Given the description of an element on the screen output the (x, y) to click on. 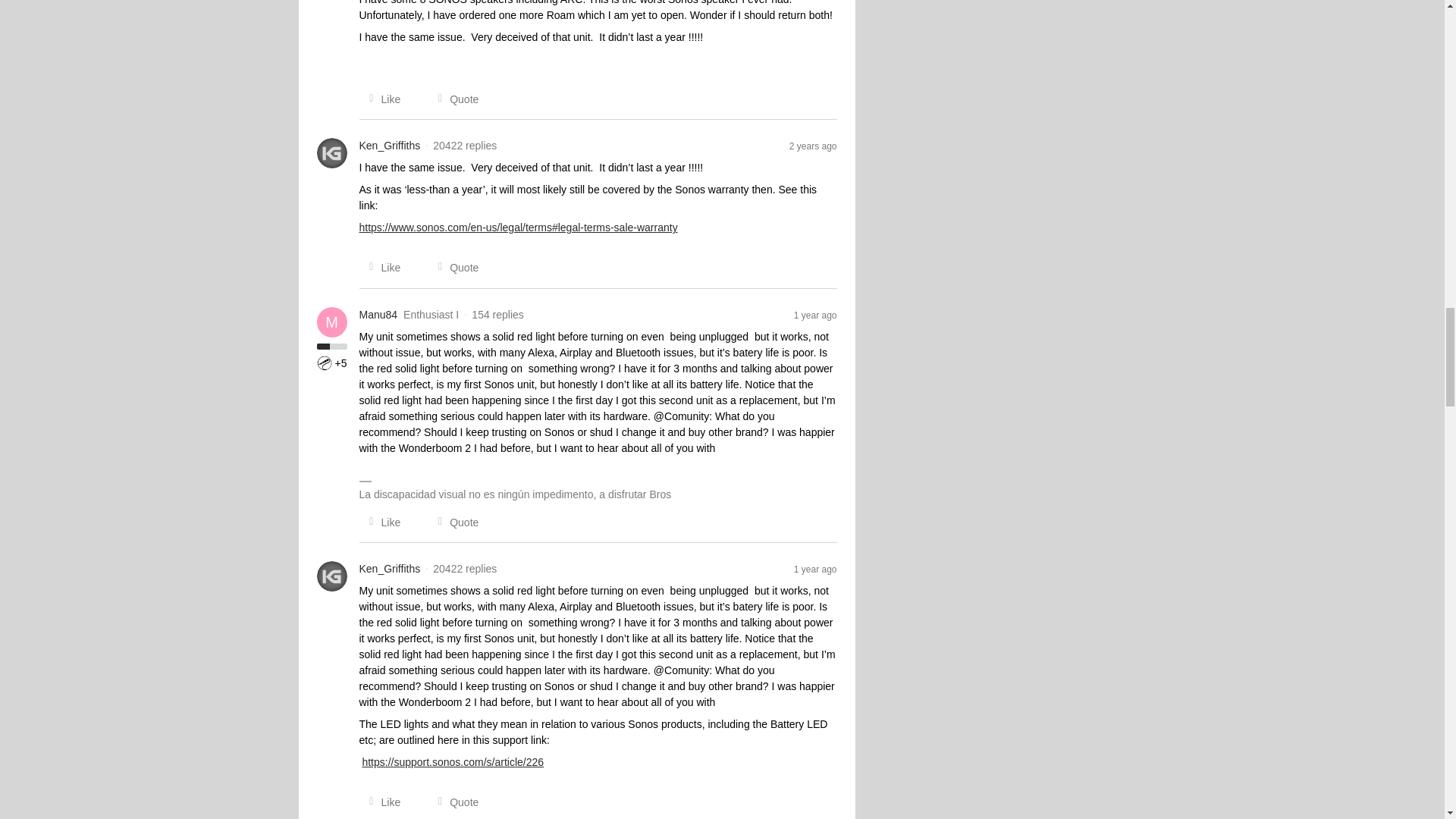
Amping it up I (324, 363)
Manu84 (378, 314)
